Given the description of an element on the screen output the (x, y) to click on. 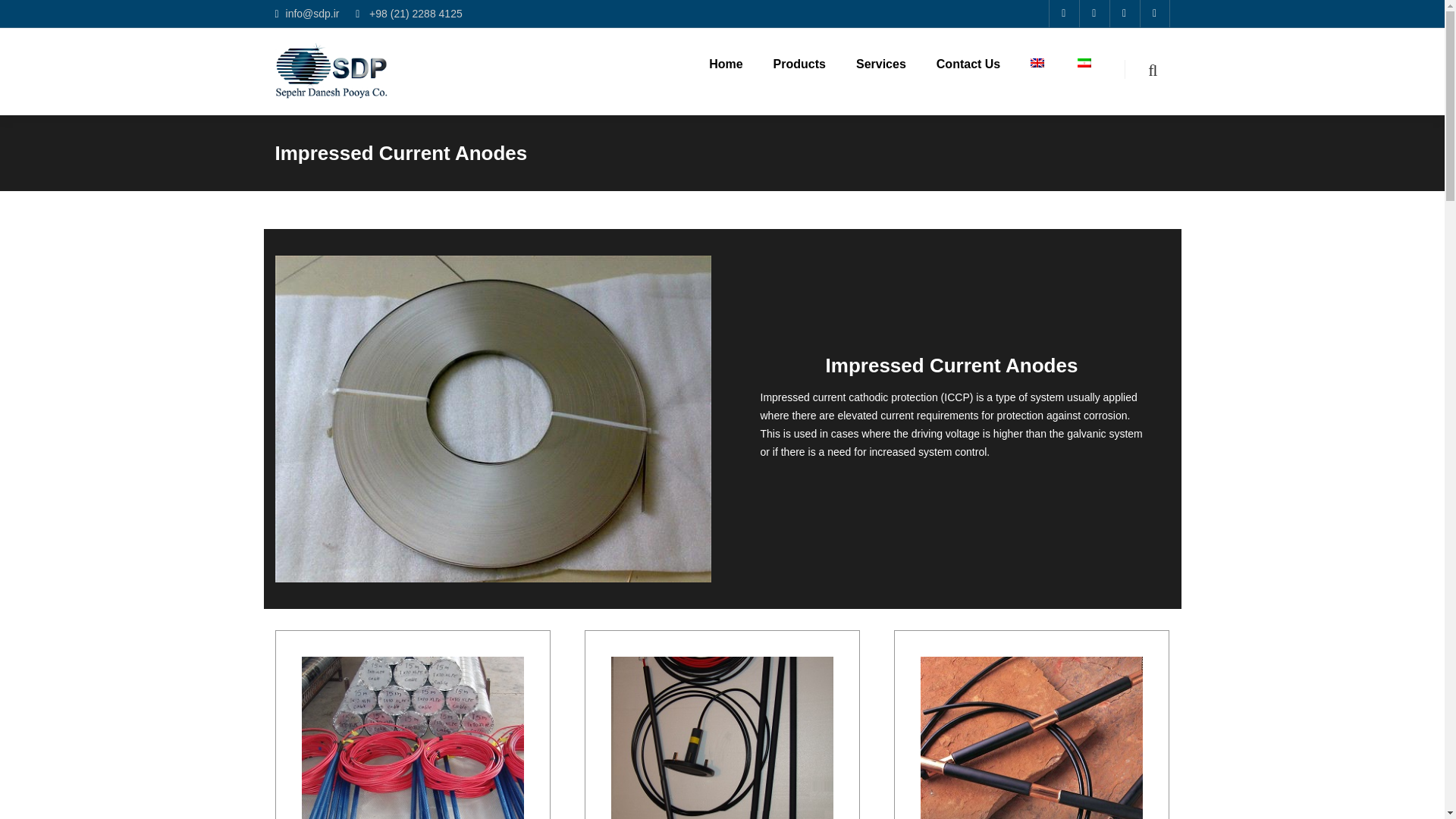
Home (741, 79)
Products (814, 79)
English (1036, 62)
